Given the description of an element on the screen output the (x, y) to click on. 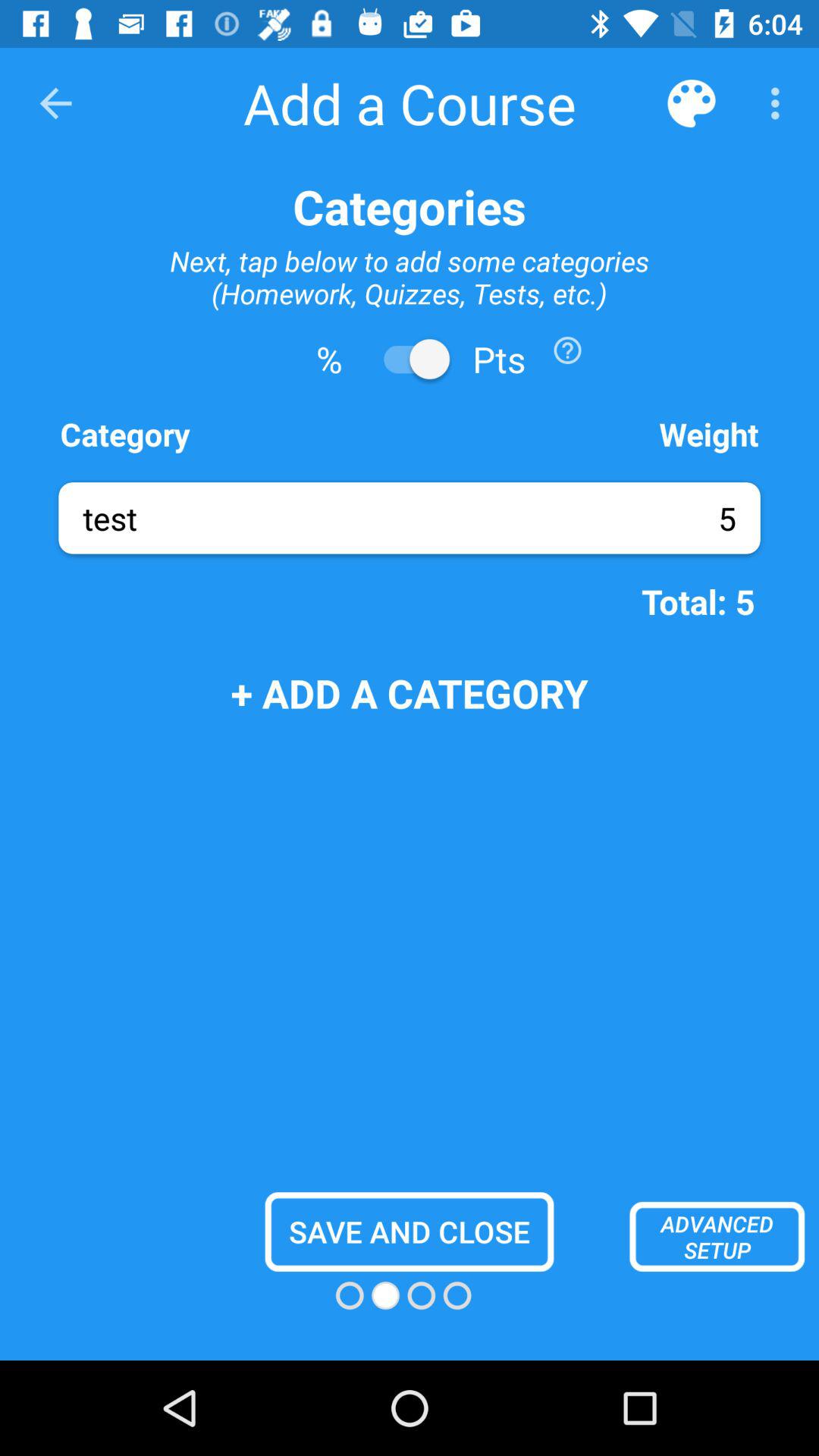
toggle points (409, 359)
